Given the description of an element on the screen output the (x, y) to click on. 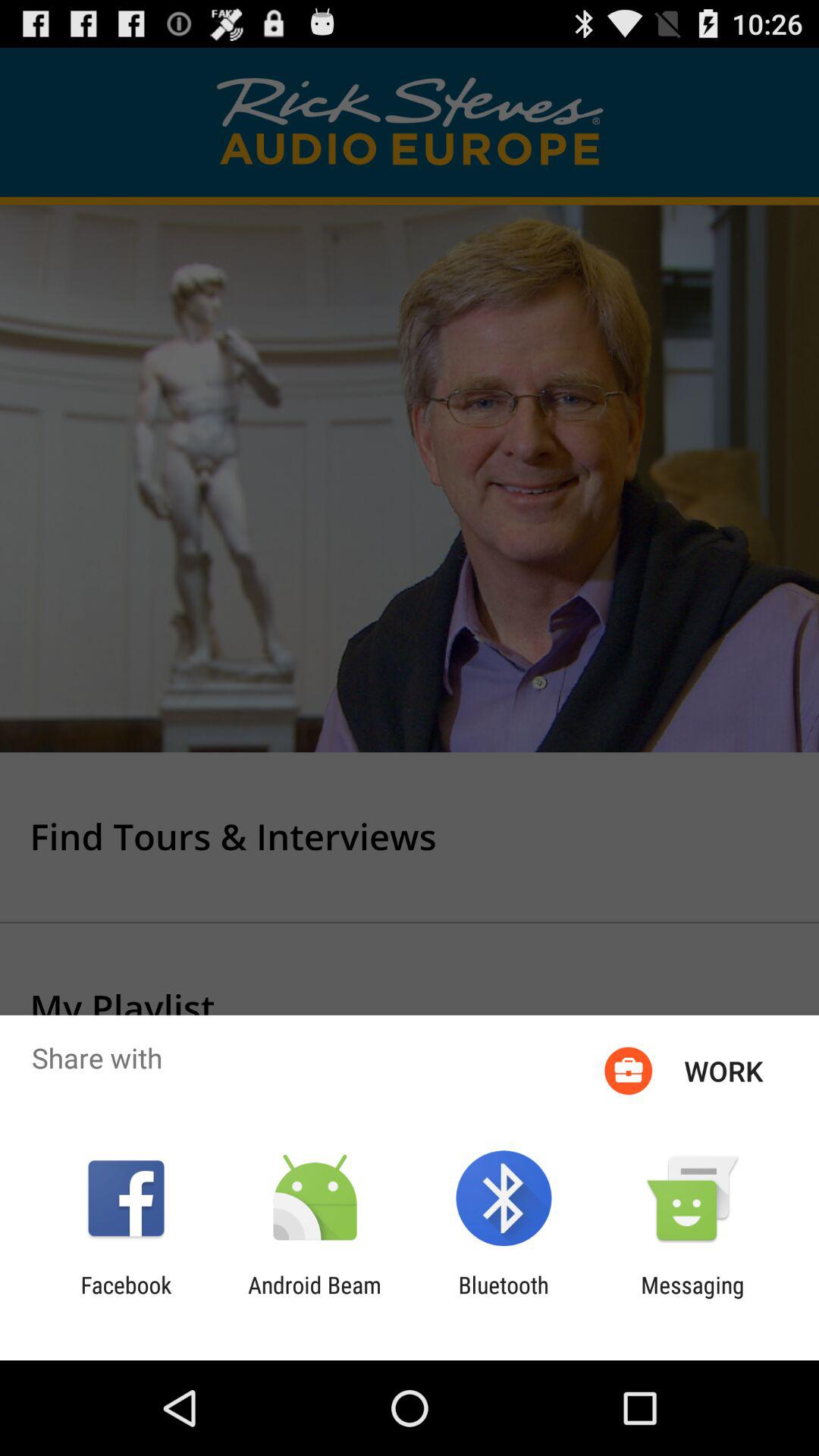
turn off the messaging (692, 1298)
